Given the description of an element on the screen output the (x, y) to click on. 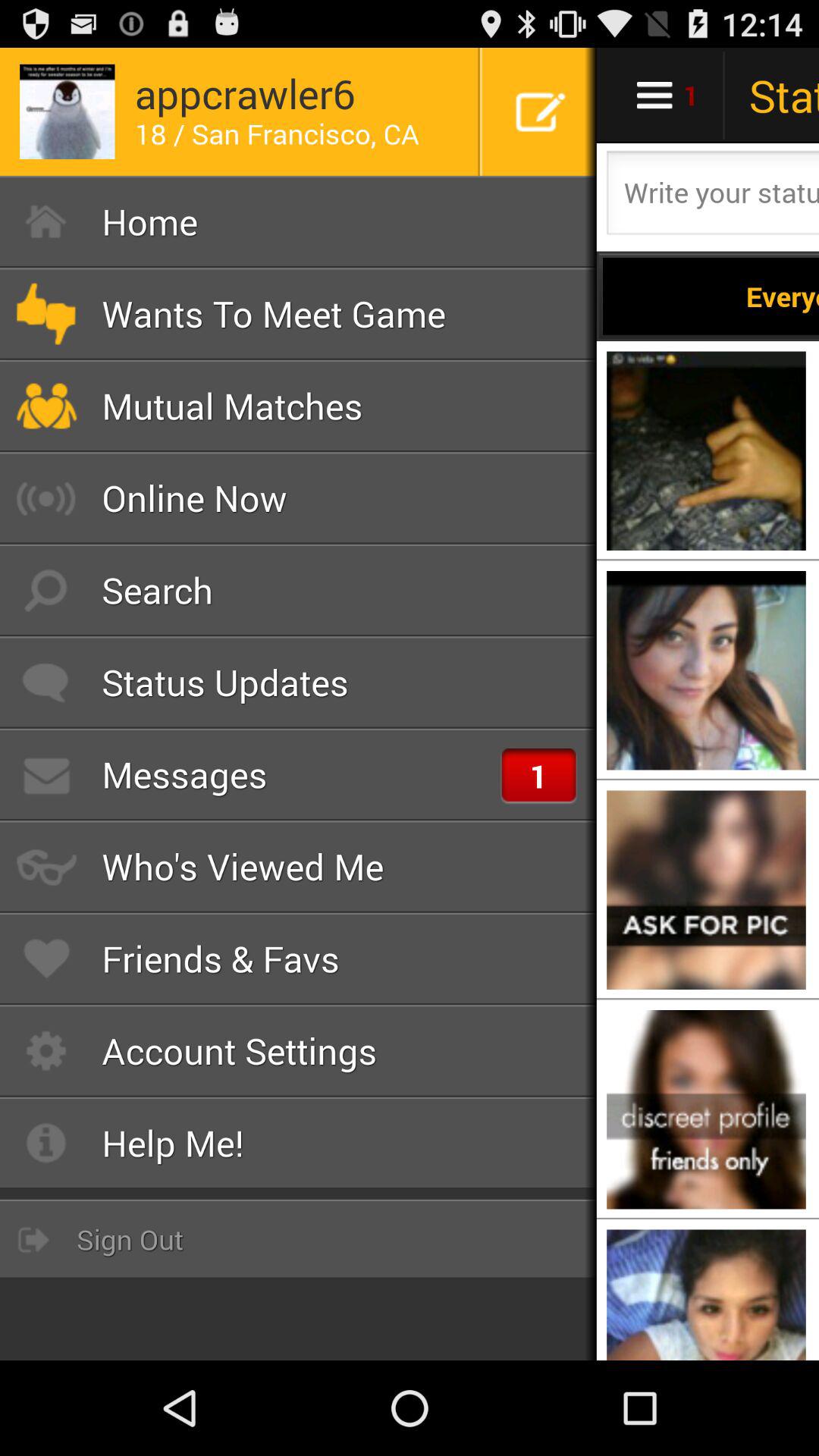
tap the button below the home button (298, 313)
